Given the description of an element on the screen output the (x, y) to click on. 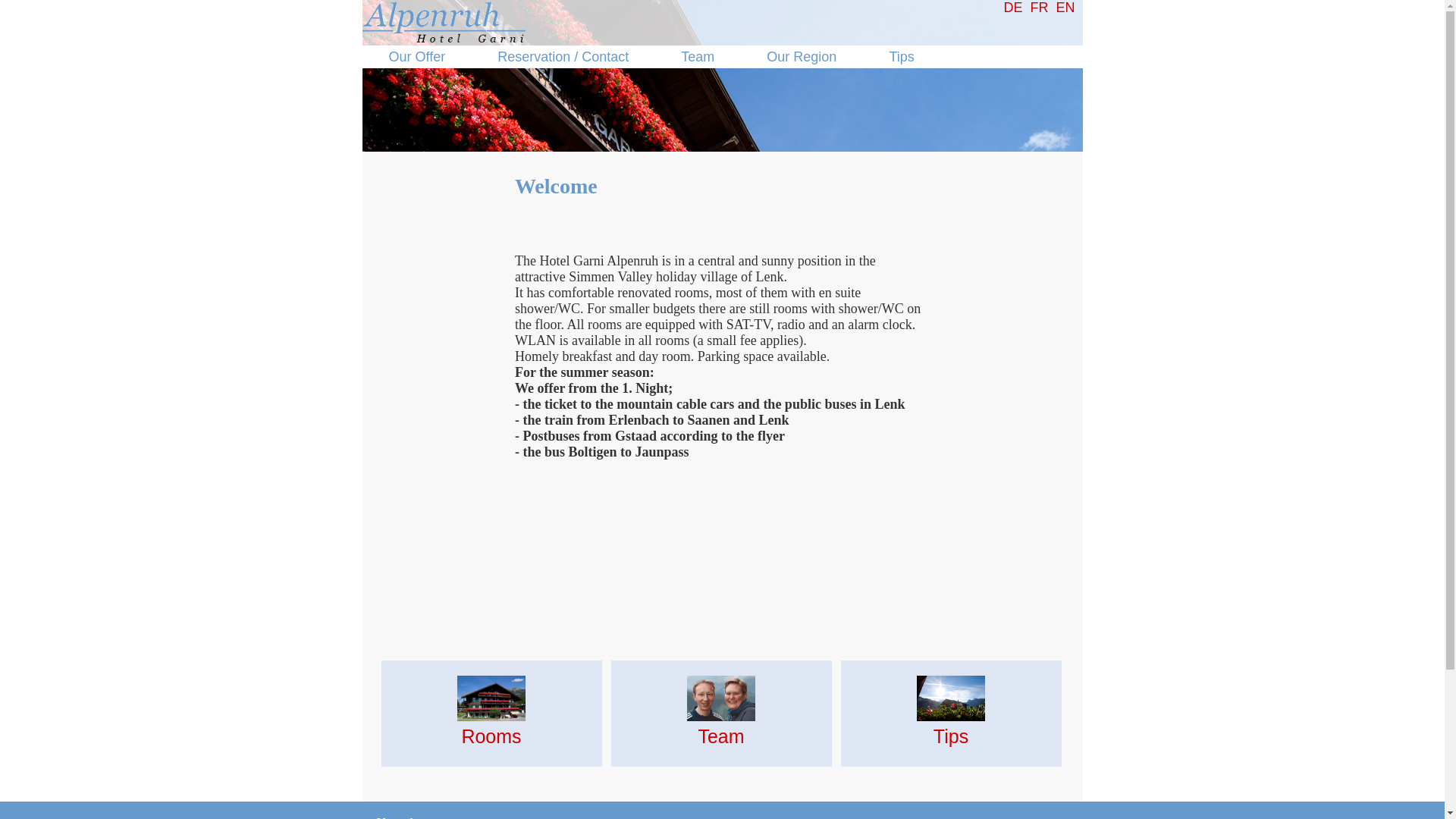
Reservation / Contact Element type: text (562, 56)
Team Element type: text (697, 56)
DE Element type: text (1012, 7)
Tips Element type: text (900, 56)
EN Element type: text (1064, 7)
FR Element type: text (1038, 7)
Our Offer Element type: text (416, 56)
Our Region Element type: text (801, 56)
